Given the description of an element on the screen output the (x, y) to click on. 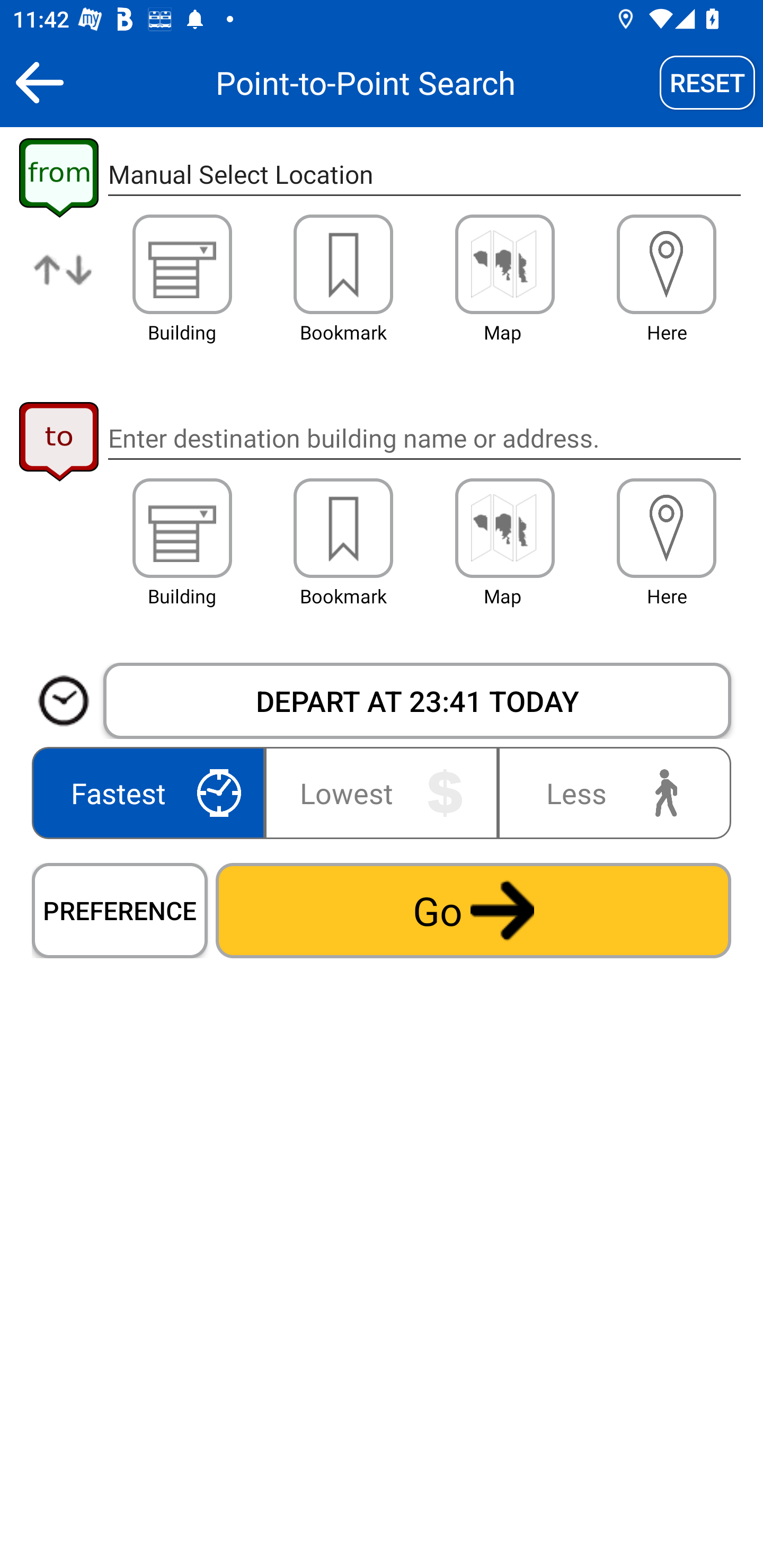
Back (39, 82)
RESET Reset (707, 81)
Manual Select Location (423, 174)
Building (181, 263)
Bookmarks (342, 263)
Select location on map (504, 263)
Here (666, 263)
Swap origin and destination (63, 284)
Enter destination building name or address. (423, 437)
Building (181, 528)
Bookmarks (342, 528)
Select location on map (504, 528)
Here (666, 528)
Lowest (381, 792)
Fastest selected (151, 792)
Less (610, 792)
PREFERENCE Preference (119, 910)
Go (472, 910)
